Given the description of an element on the screen output the (x, y) to click on. 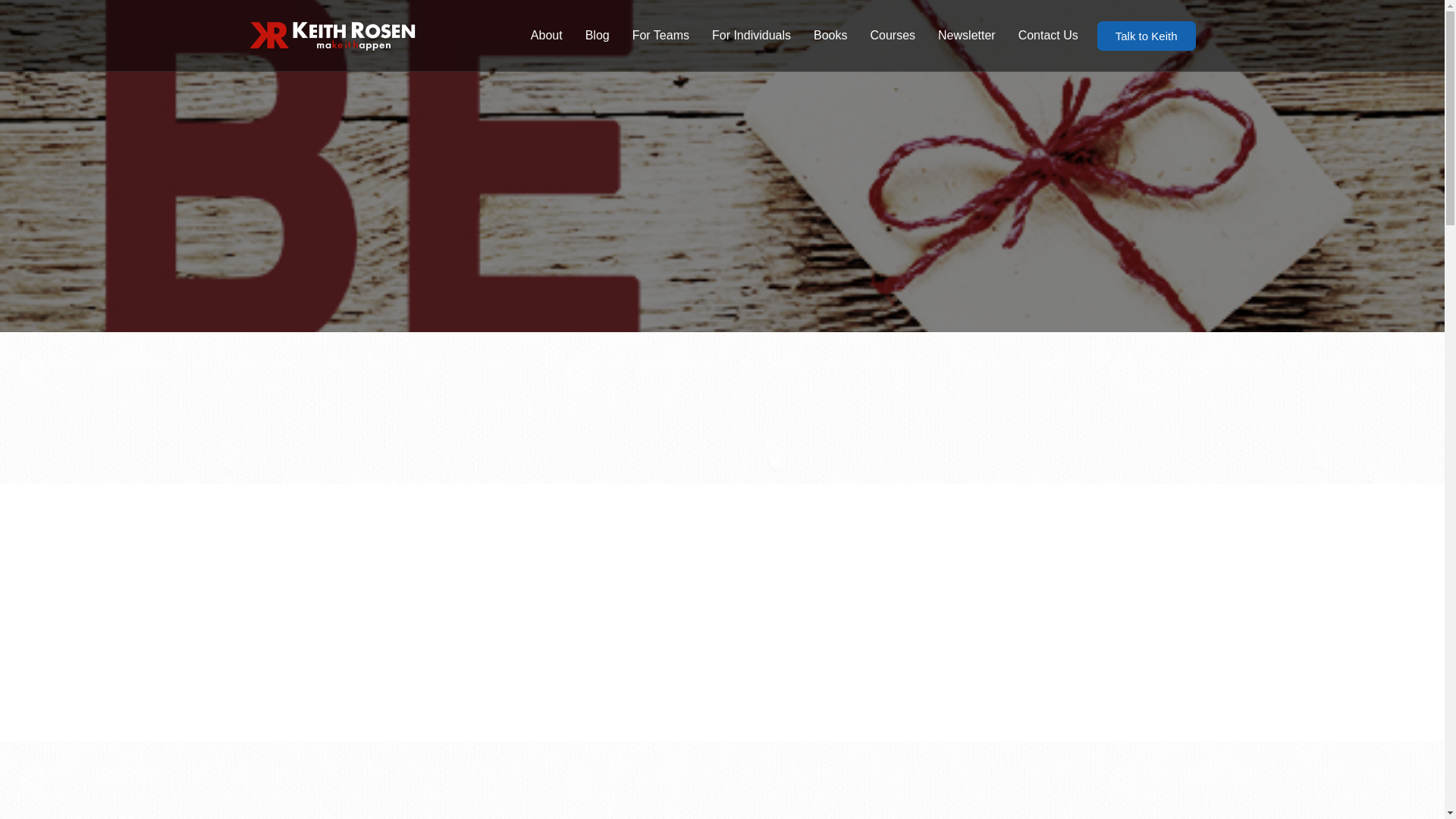
Newsletter (966, 35)
About (546, 35)
Courses (892, 35)
Talk to Keith (1146, 35)
Books (830, 35)
For Teams (660, 35)
Blog (597, 35)
For Individuals (751, 35)
Contact Us (1048, 35)
